Given the description of an element on the screen output the (x, y) to click on. 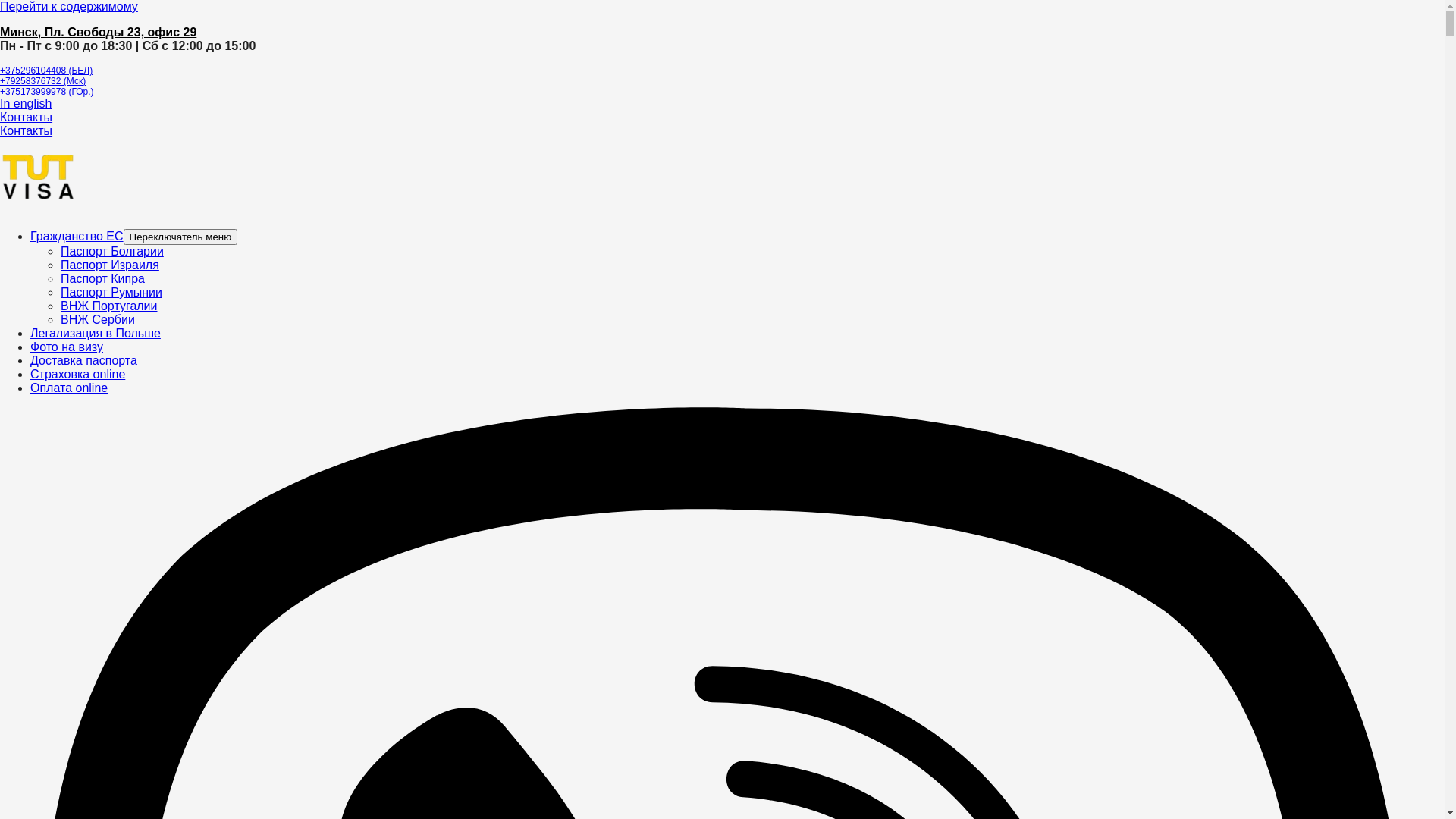
In english Element type: text (26, 103)
